Given the description of an element on the screen output the (x, y) to click on. 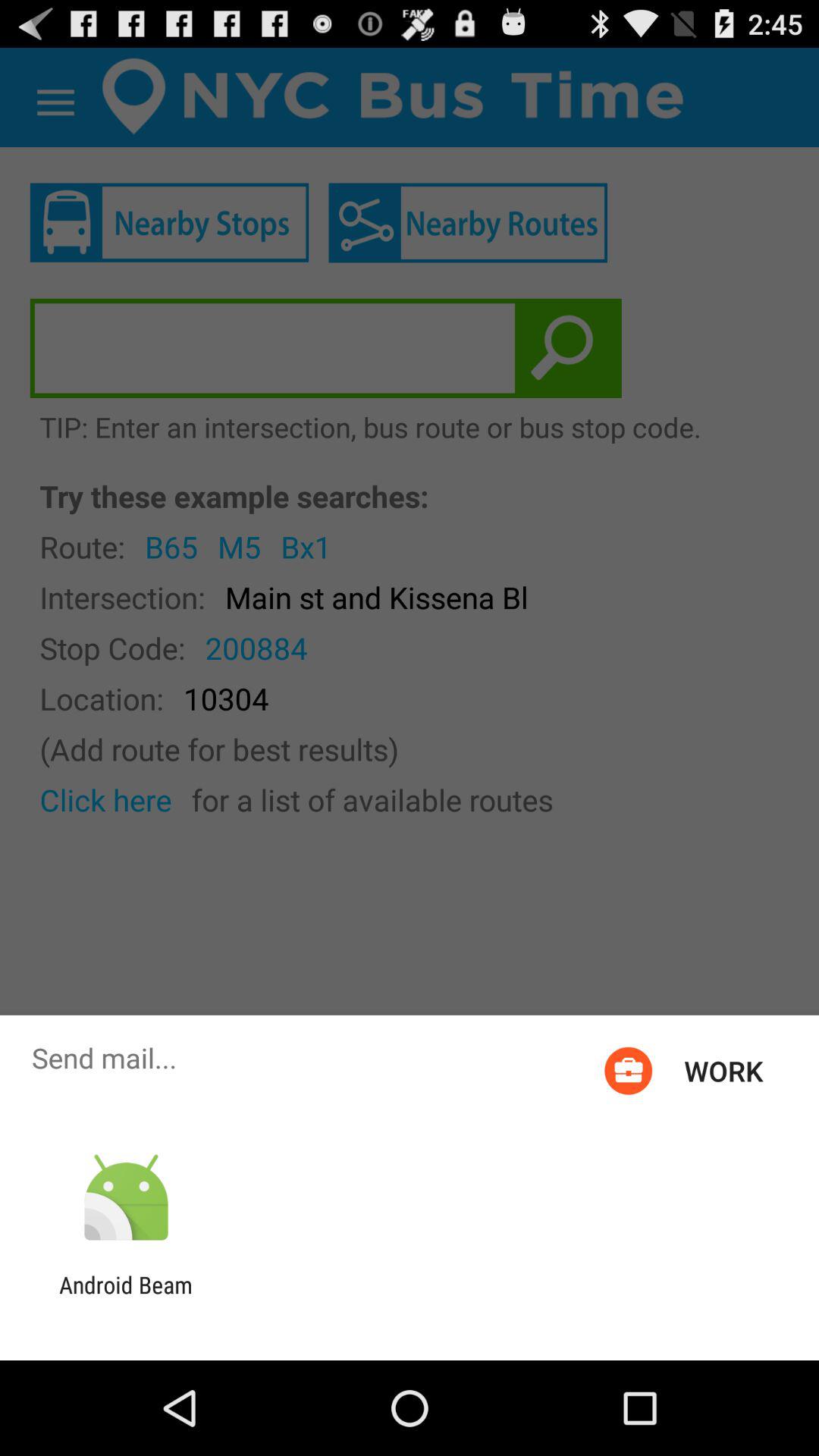
jump to android beam app (125, 1298)
